Given the description of an element on the screen output the (x, y) to click on. 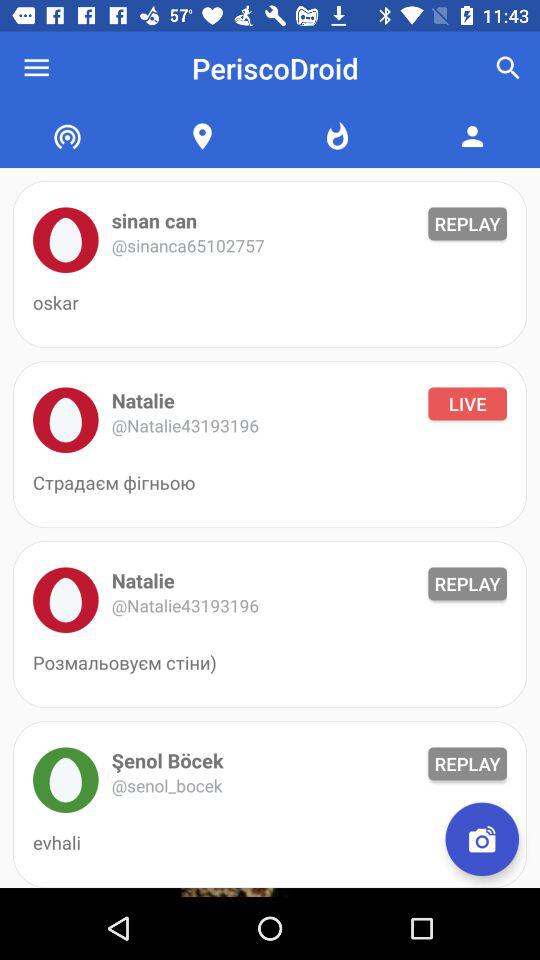
take a picture or a video (482, 839)
